Given the description of an element on the screen output the (x, y) to click on. 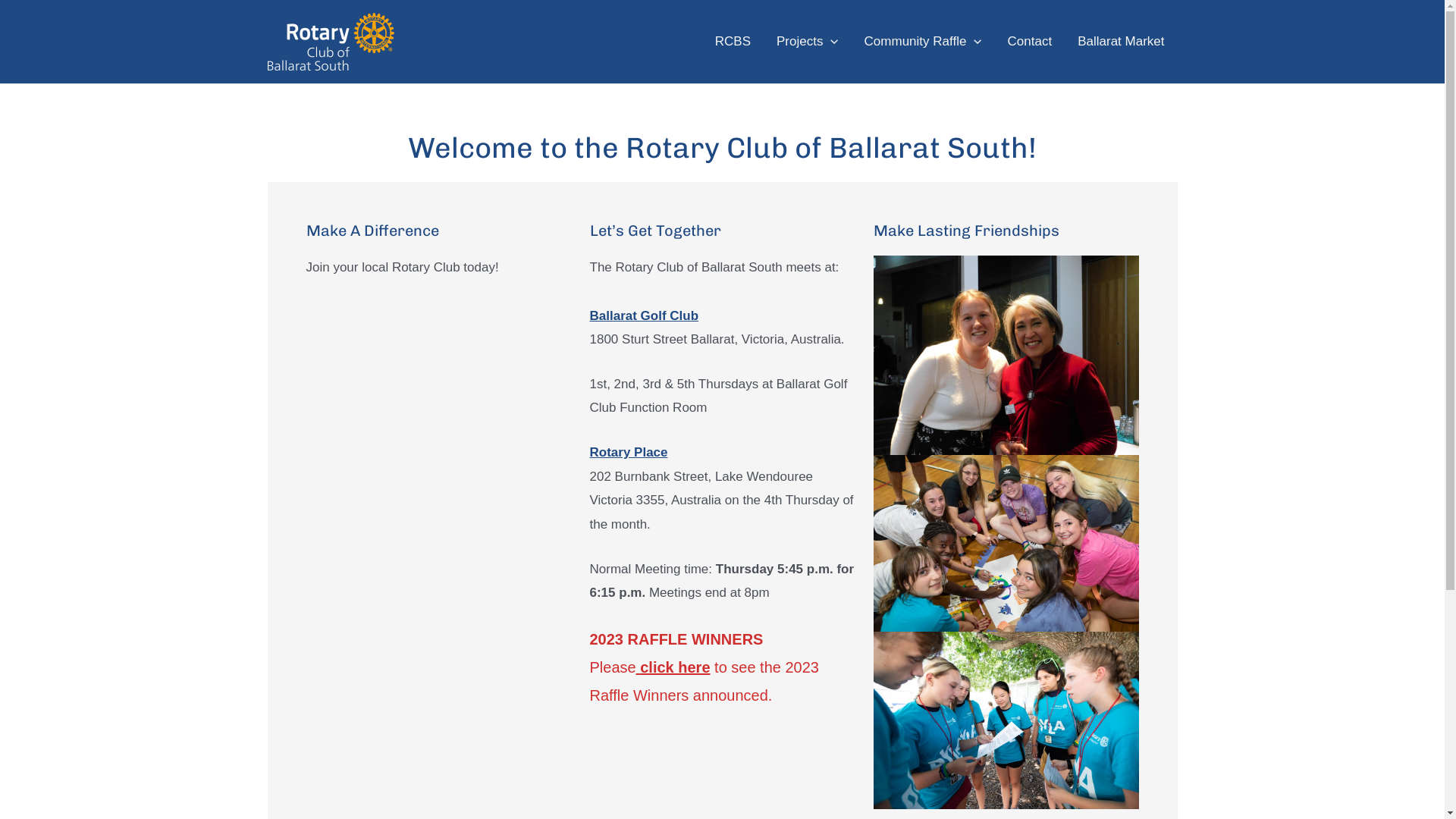
Community Raffle Element type: text (922, 41)
click here Element type: text (673, 666)
Ballarat Market Element type: text (1120, 41)
Projects Element type: text (807, 41)
Rotary Place Element type: text (628, 452)
Google Map for Rotary Place Element type: hover (438, 659)
Contact Element type: text (1029, 41)
RCBS Element type: text (732, 41)
Ballarat Golf Club Element type: text (644, 315)
Google Map for Ballarat Golf Club Element type: hover (438, 413)
